Given the description of an element on the screen output the (x, y) to click on. 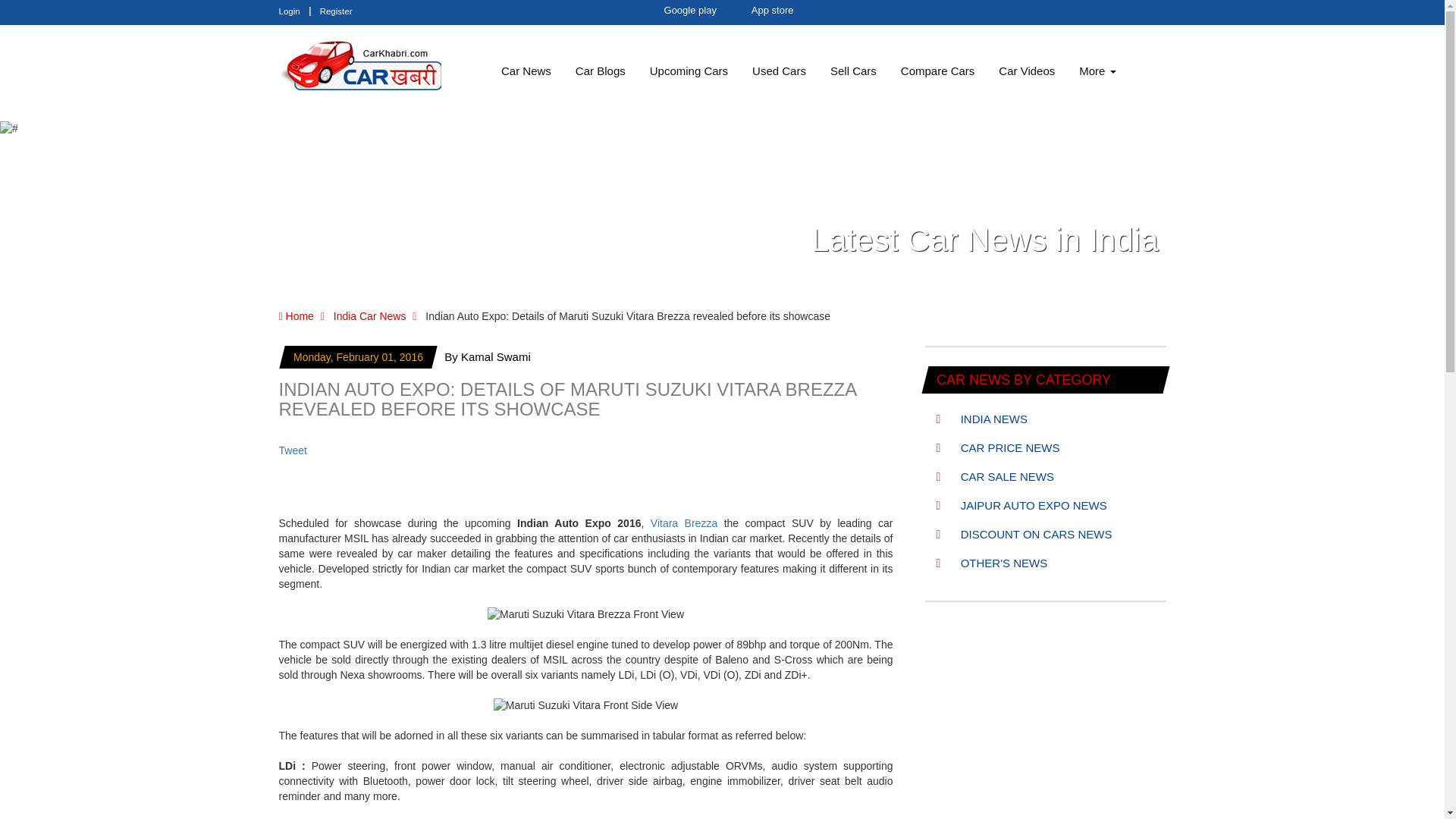
Sell Cars (853, 70)
JAIPUR AUTO EXPO NEWS (1021, 505)
Maruti Suzuki Vitara Front Side View (585, 705)
Register (336, 11)
Car News (526, 70)
Car Blogs (600, 70)
Login (289, 11)
Car Videos (1027, 70)
CAR PRICE NEWS (997, 447)
Jaipur Auto Expo News (1021, 505)
